Given the description of an element on the screen output the (x, y) to click on. 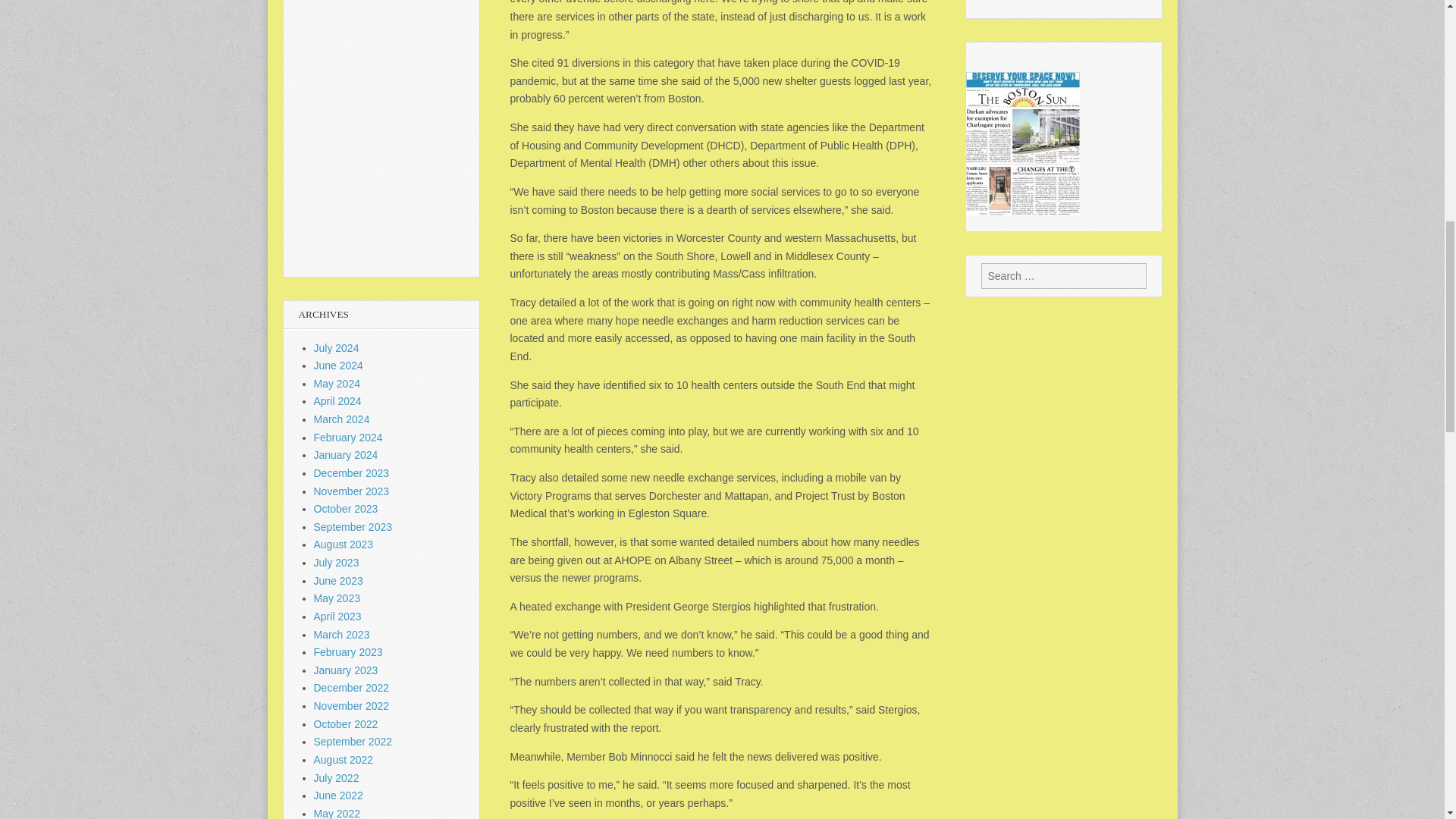
March 2024 (341, 419)
July 2024 (336, 347)
May 2024 (336, 383)
April 2024 (337, 400)
June 2024 (338, 365)
December 2023 (352, 472)
February 2024 (348, 437)
January 2024 (346, 454)
